Given the description of an element on the screen output the (x, y) to click on. 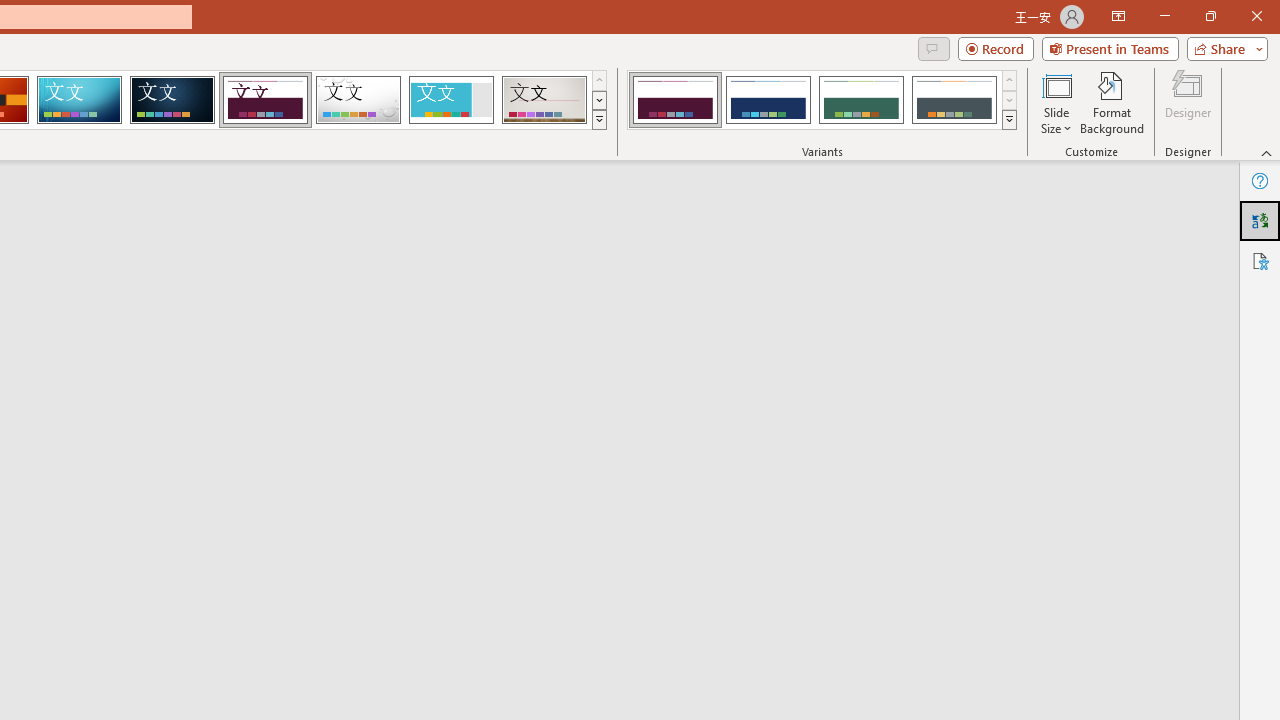
Dividend Variant 3 (861, 100)
